Given the description of an element on the screen output the (x, y) to click on. 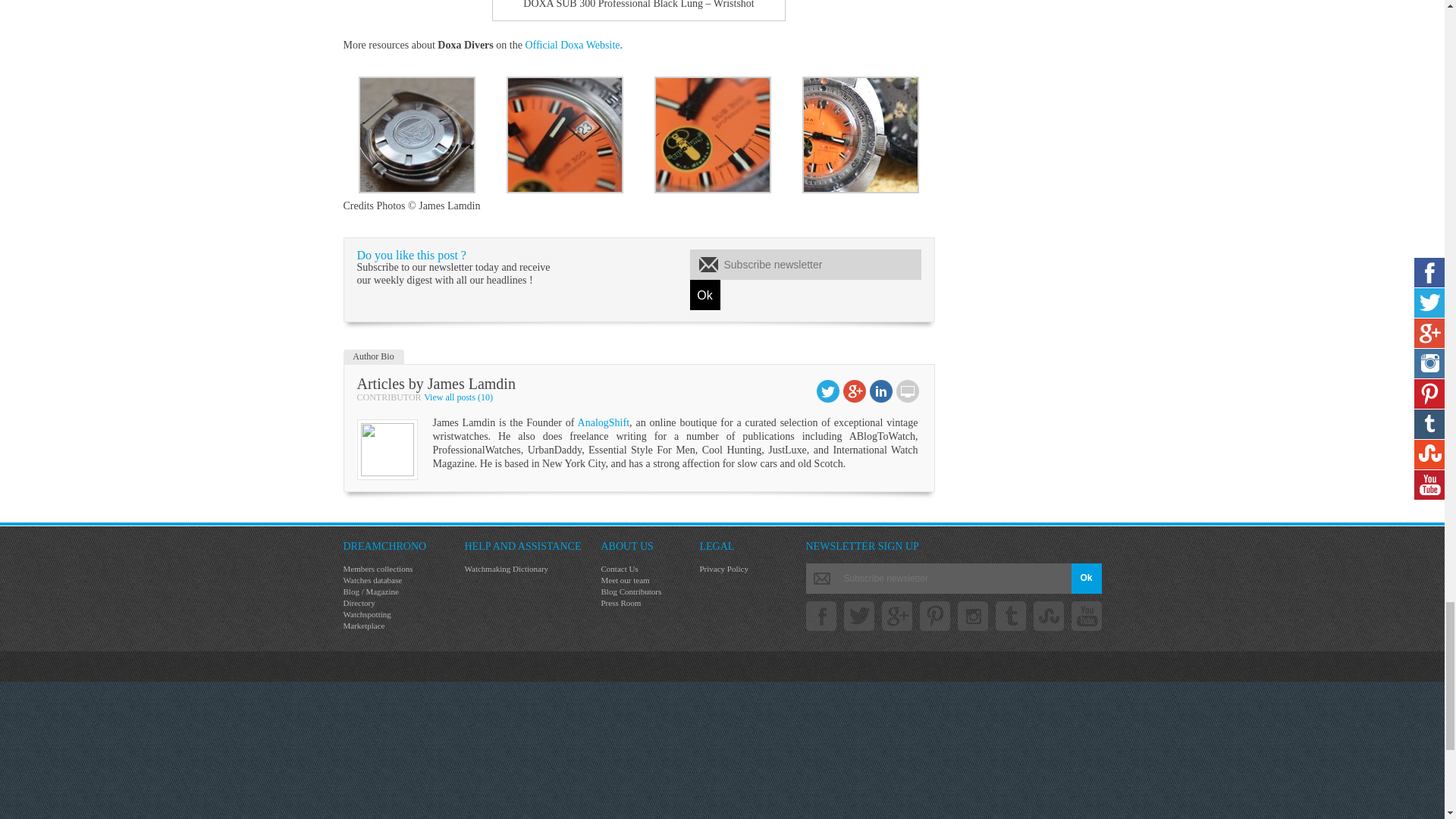
Ok (705, 295)
Ok (1085, 578)
